Given the description of an element on the screen output the (x, y) to click on. 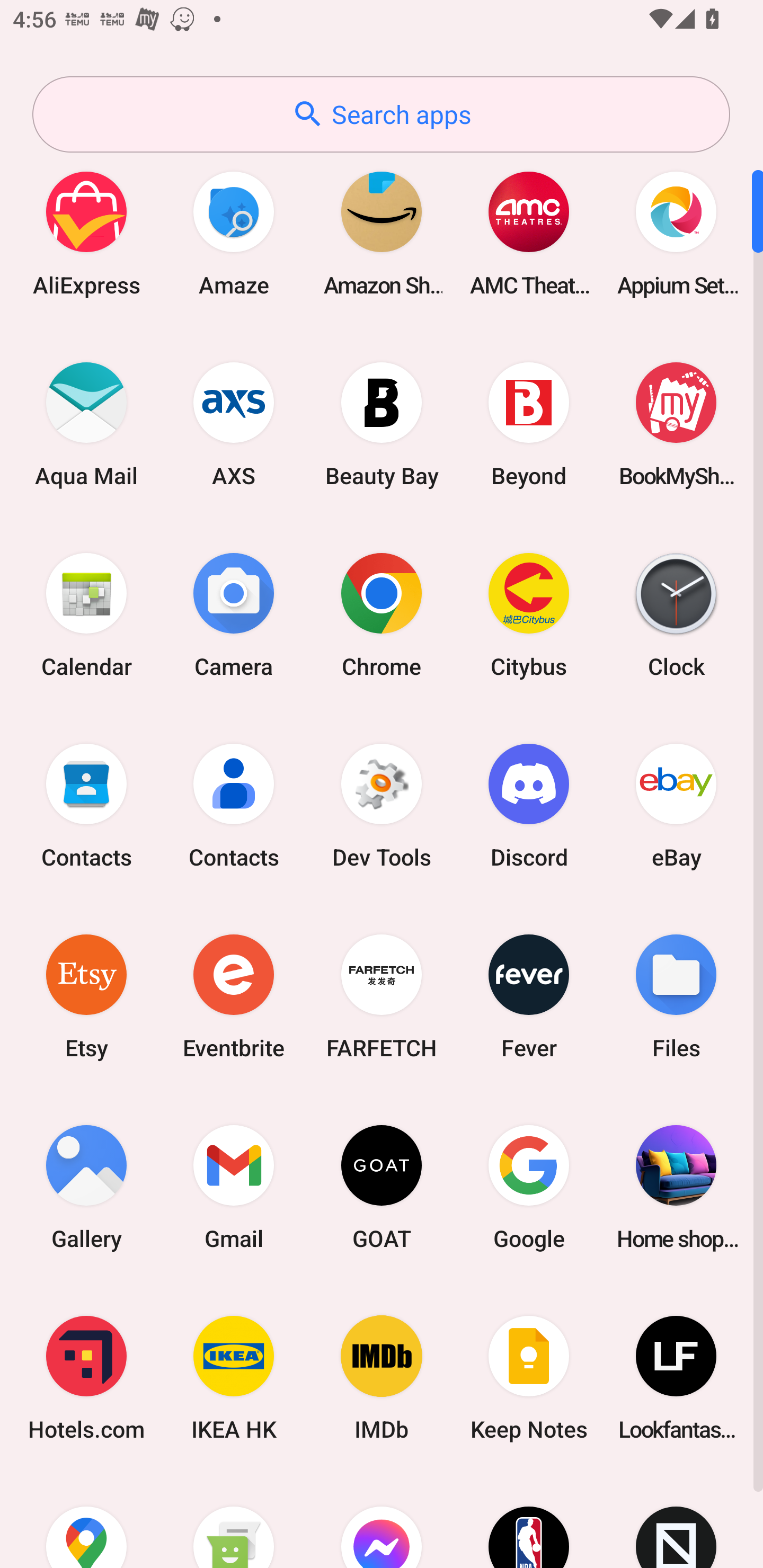
  Search apps (381, 114)
AliExpress (86, 233)
Amaze (233, 233)
Amazon Shopping (381, 233)
AMC Theatres (528, 233)
Appium Settings (676, 233)
Aqua Mail (86, 424)
AXS (233, 424)
Beauty Bay (381, 424)
Beyond (528, 424)
BookMyShow (676, 424)
Calendar (86, 614)
Camera (233, 614)
Chrome (381, 614)
Citybus (528, 614)
Clock (676, 614)
Contacts (86, 805)
Contacts (233, 805)
Dev Tools (381, 805)
Discord (528, 805)
eBay (676, 805)
Etsy (86, 996)
Eventbrite (233, 996)
FARFETCH (381, 996)
Fever (528, 996)
Files (676, 996)
Gallery (86, 1186)
Gmail (233, 1186)
GOAT (381, 1186)
Google (528, 1186)
Home shopping (676, 1186)
Hotels.com (86, 1377)
IKEA HK (233, 1377)
IMDb (381, 1377)
Keep Notes (528, 1377)
Lookfantastic (676, 1377)
Maps (86, 1520)
Messaging (233, 1520)
Messenger (381, 1520)
NBA (528, 1520)
Novelship (676, 1520)
